Given the description of an element on the screen output the (x, y) to click on. 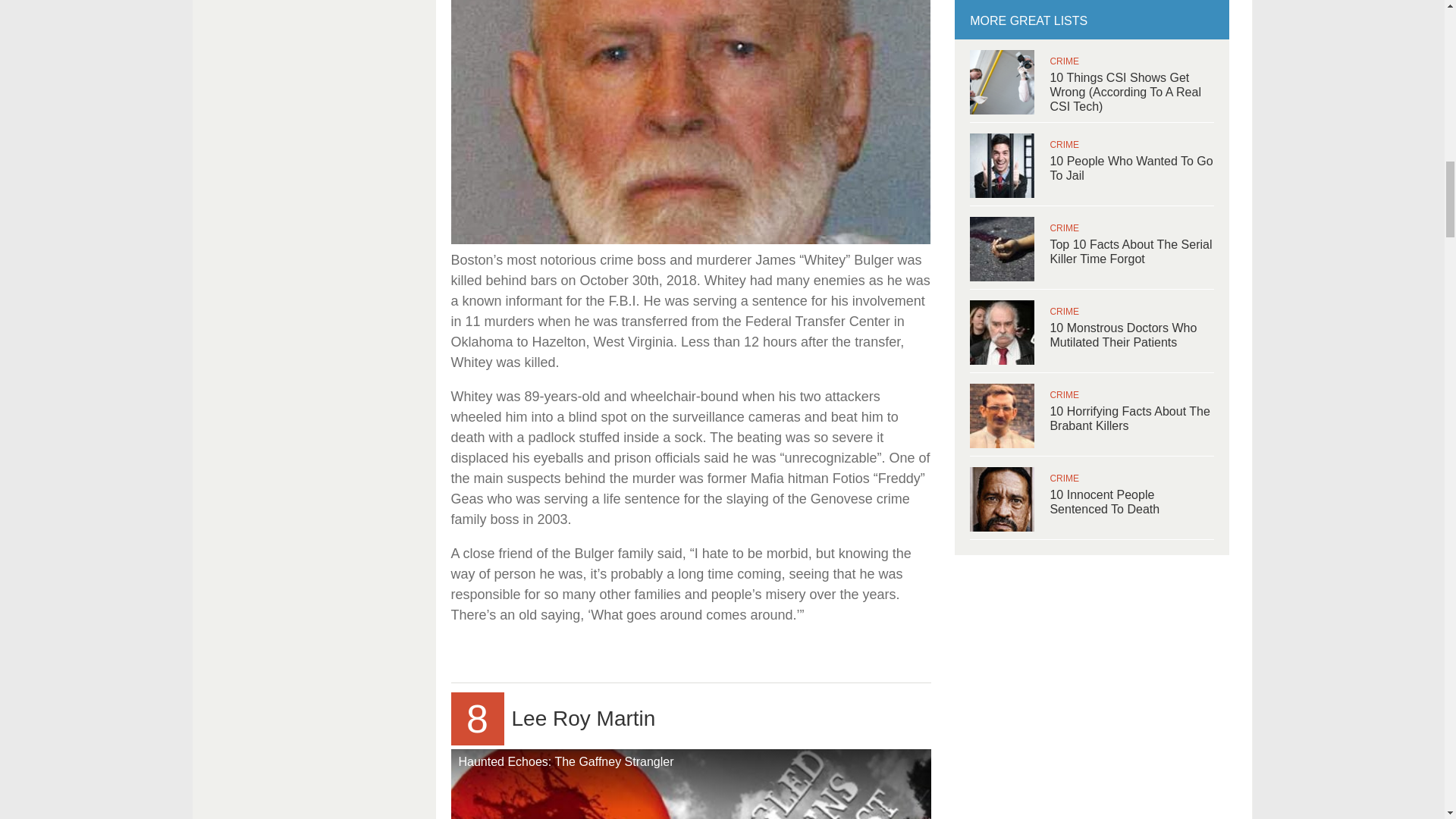
Haunted Echoes: The Gaffney Strangler (689, 784)
